Given the description of an element on the screen output the (x, y) to click on. 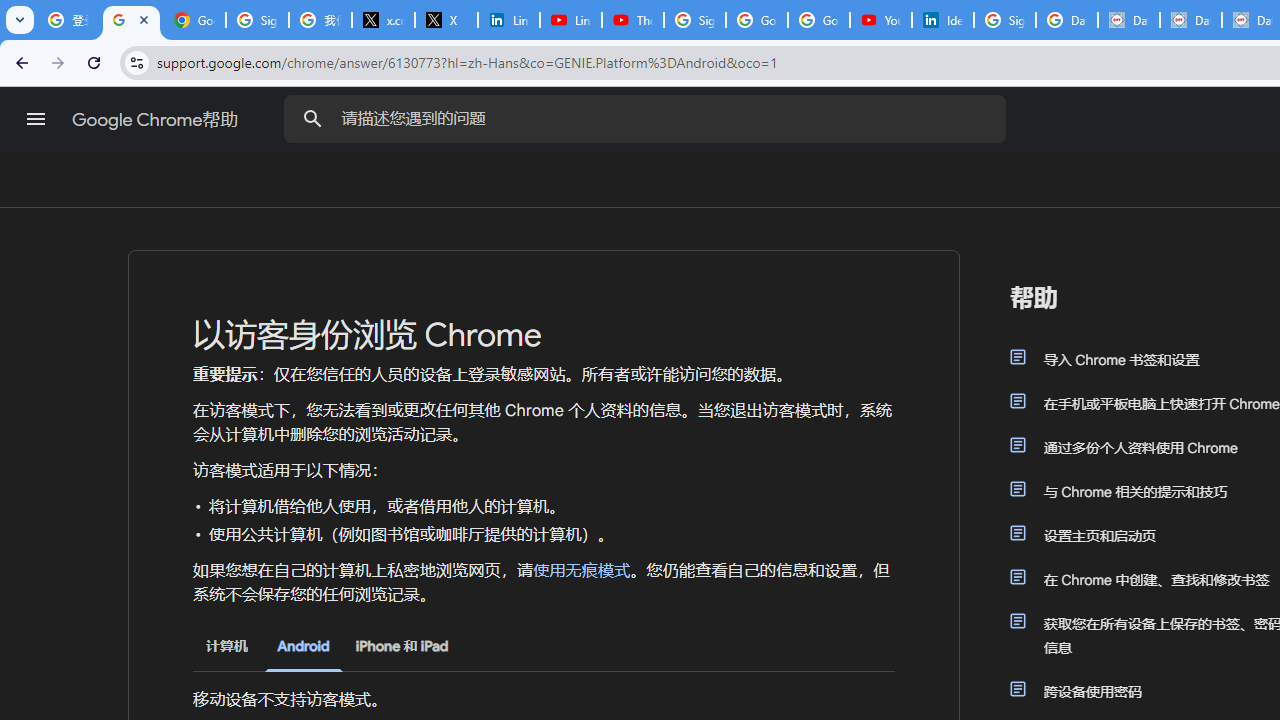
Sign in - Google Accounts (694, 20)
Android (303, 646)
Data Privacy Framework (1190, 20)
